Given the description of an element on the screen output the (x, y) to click on. 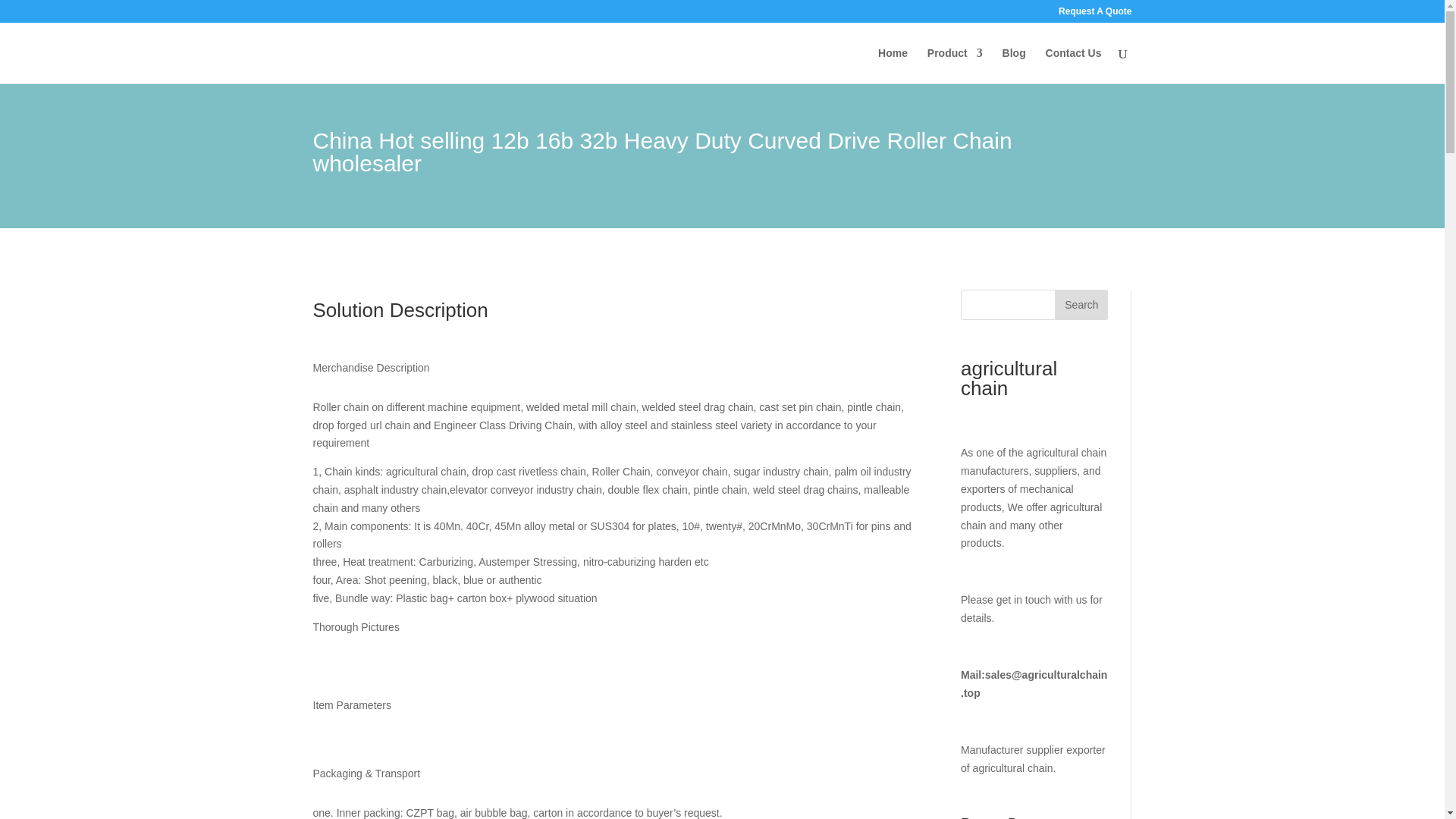
Search (1081, 304)
Product (954, 65)
Request A Quote (1094, 14)
Search (1081, 304)
Contact Us (1073, 65)
